Given the description of an element on the screen output the (x, y) to click on. 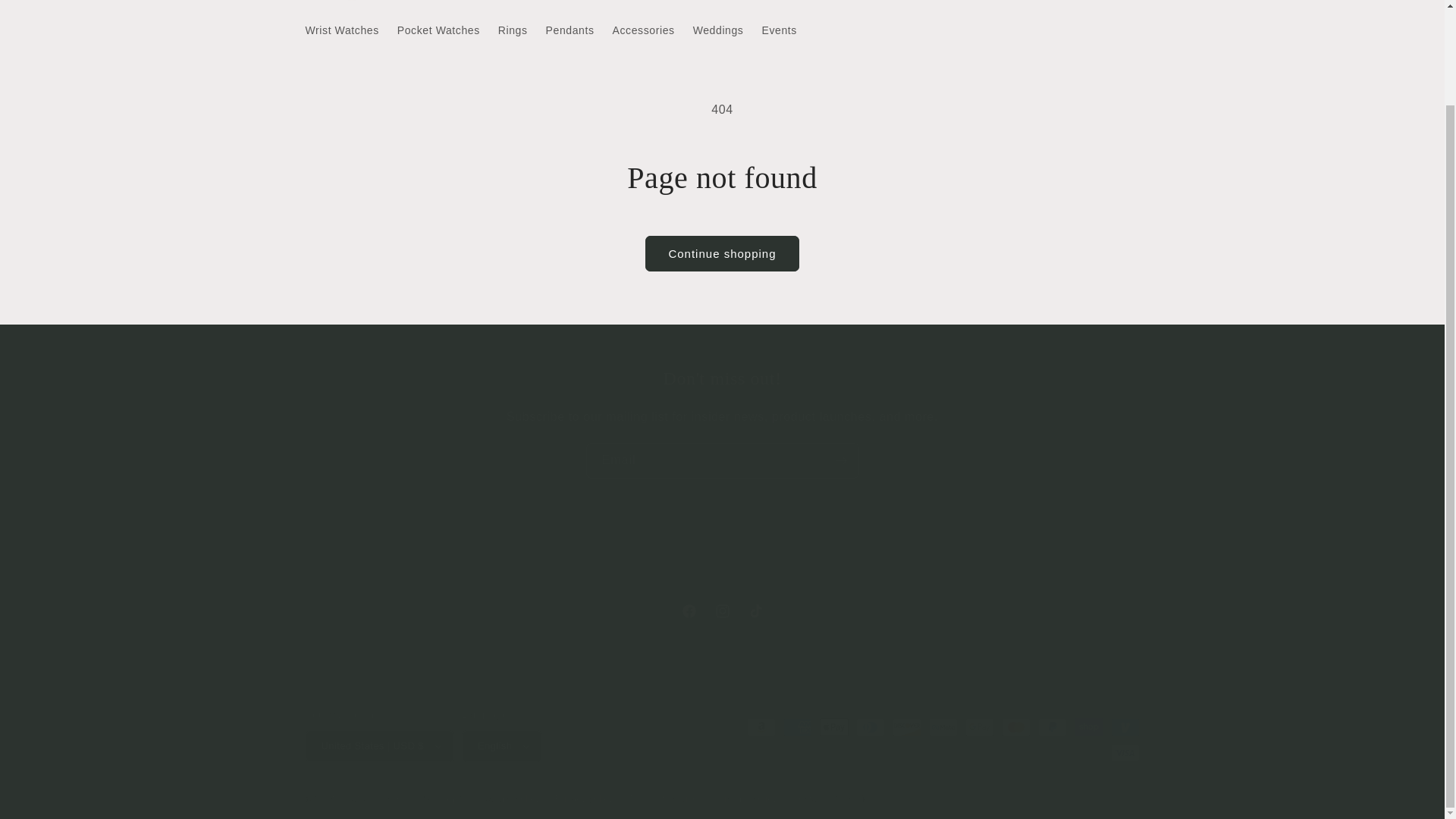
Rings (513, 29)
Pocket Watches (438, 29)
Pendants (570, 29)
FAQs (782, 573)
Weddings (721, 611)
Contact (718, 29)
Facebook (732, 573)
The Story (687, 611)
Email (672, 575)
